Given the description of an element on the screen output the (x, y) to click on. 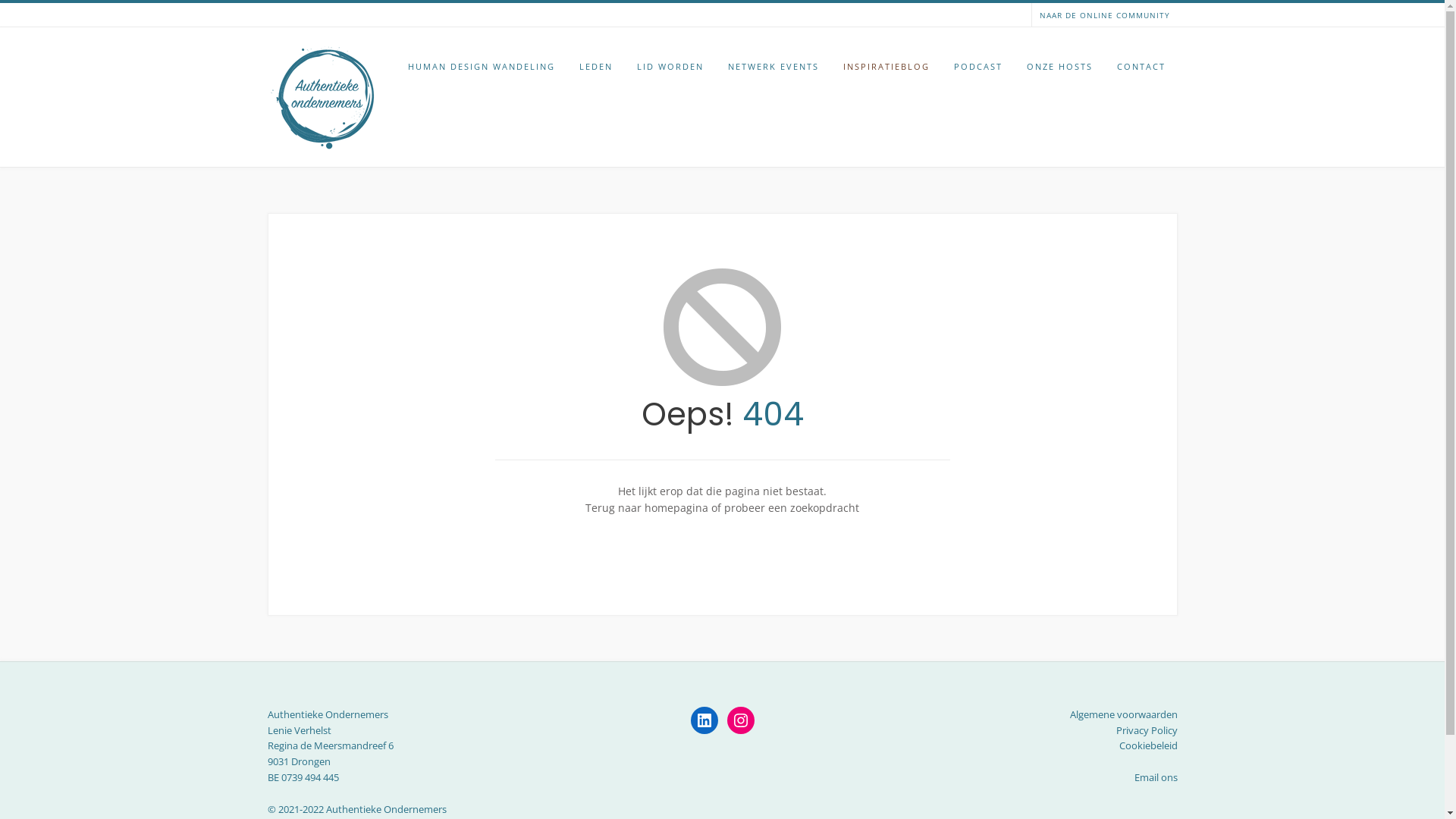
NAAR DE ONLINE COMMUNITY Element type: text (1103, 14)
LEDEN Element type: text (595, 67)
Algemene voorwaarden Element type: text (1122, 714)
Cookiebeleid Element type: text (1148, 745)
LID WORDEN Element type: text (669, 67)
LinkedIn Element type: text (703, 720)
Instagram Element type: text (739, 720)
HUMAN DESIGN WANDELING Element type: text (481, 67)
NETWERK EVENTS Element type: text (773, 67)
Email ons Element type: text (1155, 777)
CONTACT Element type: text (1140, 67)
ONZE HOSTS Element type: text (1059, 67)
INSPIRATIEBLOG Element type: text (886, 67)
Privacy Policy Element type: text (1146, 730)
PODCAST Element type: text (977, 67)
